Given the description of an element on the screen output the (x, y) to click on. 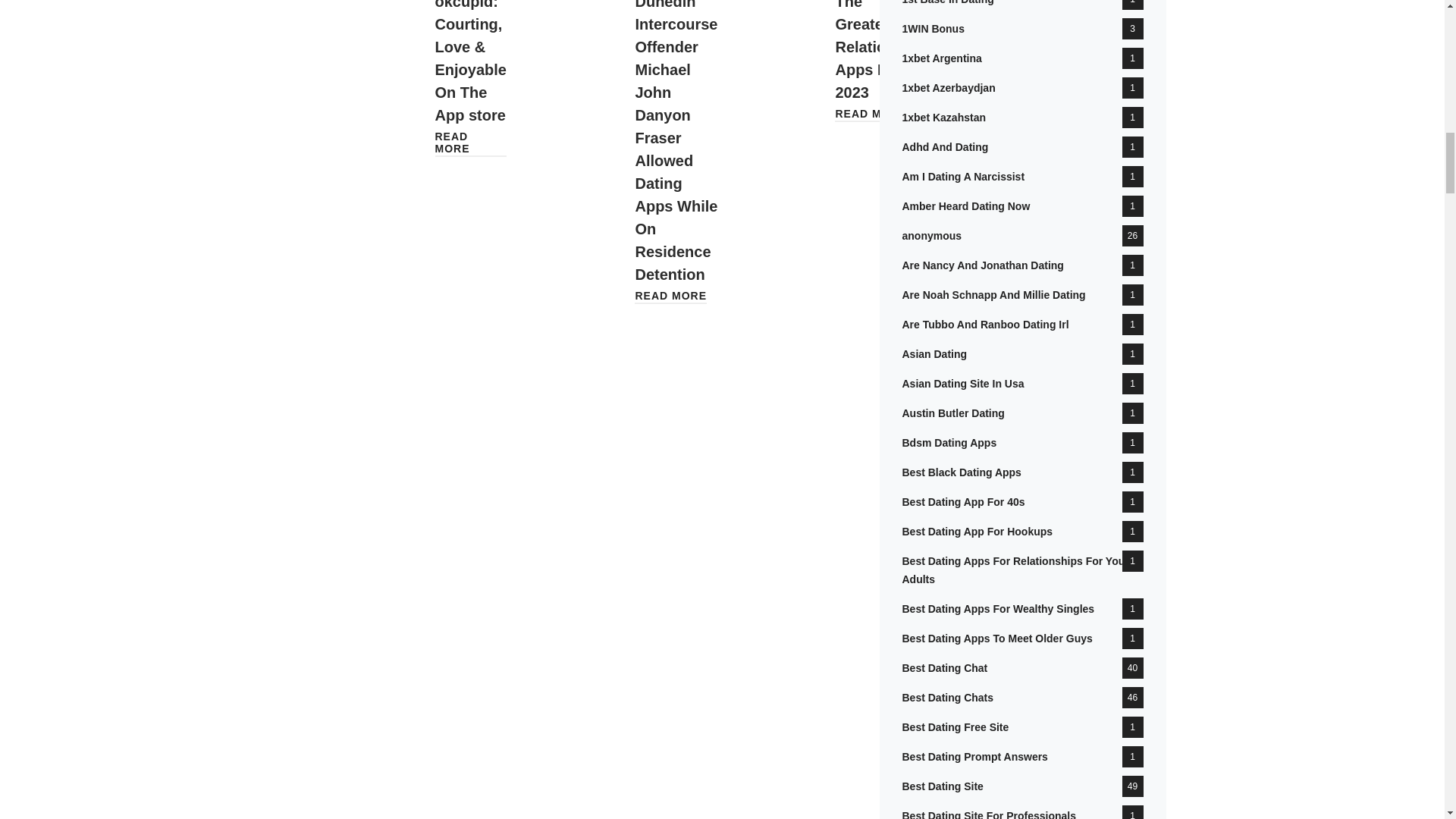
READ MORE (870, 113)
READ MORE (670, 295)
READ MORE (470, 142)
The Greatest Relationship Apps For 2023 (880, 50)
